Given the description of an element on the screen output the (x, y) to click on. 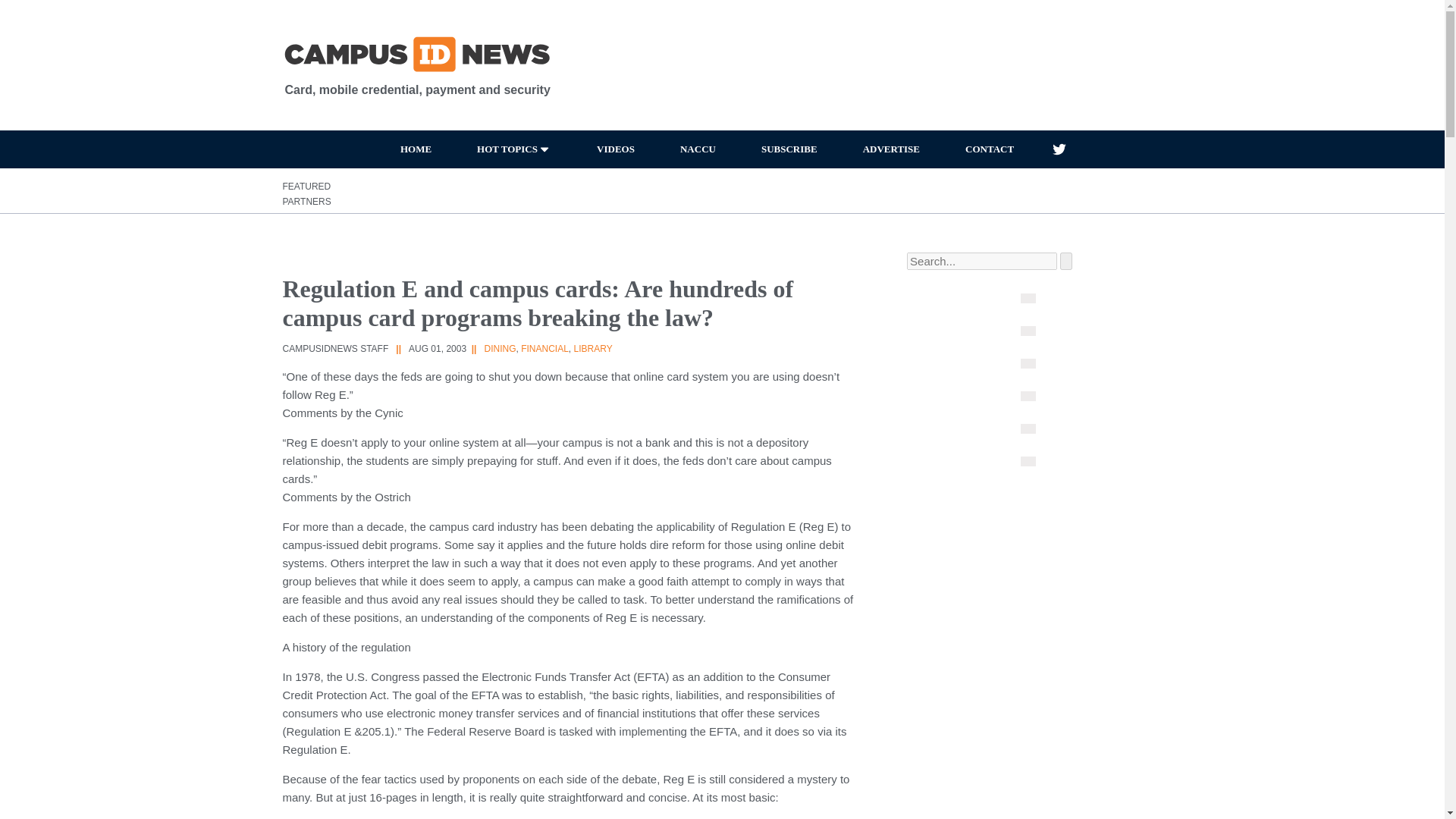
FINANCIAL (545, 348)
HOME (415, 149)
VIDEOS (615, 149)
HOT TOPICS (513, 149)
NACCU (698, 149)
DINING (499, 348)
ADVERTISE (891, 149)
CONTACT (989, 149)
SUBSCRIBE (789, 149)
LIBRARY (592, 348)
